Given the description of an element on the screen output the (x, y) to click on. 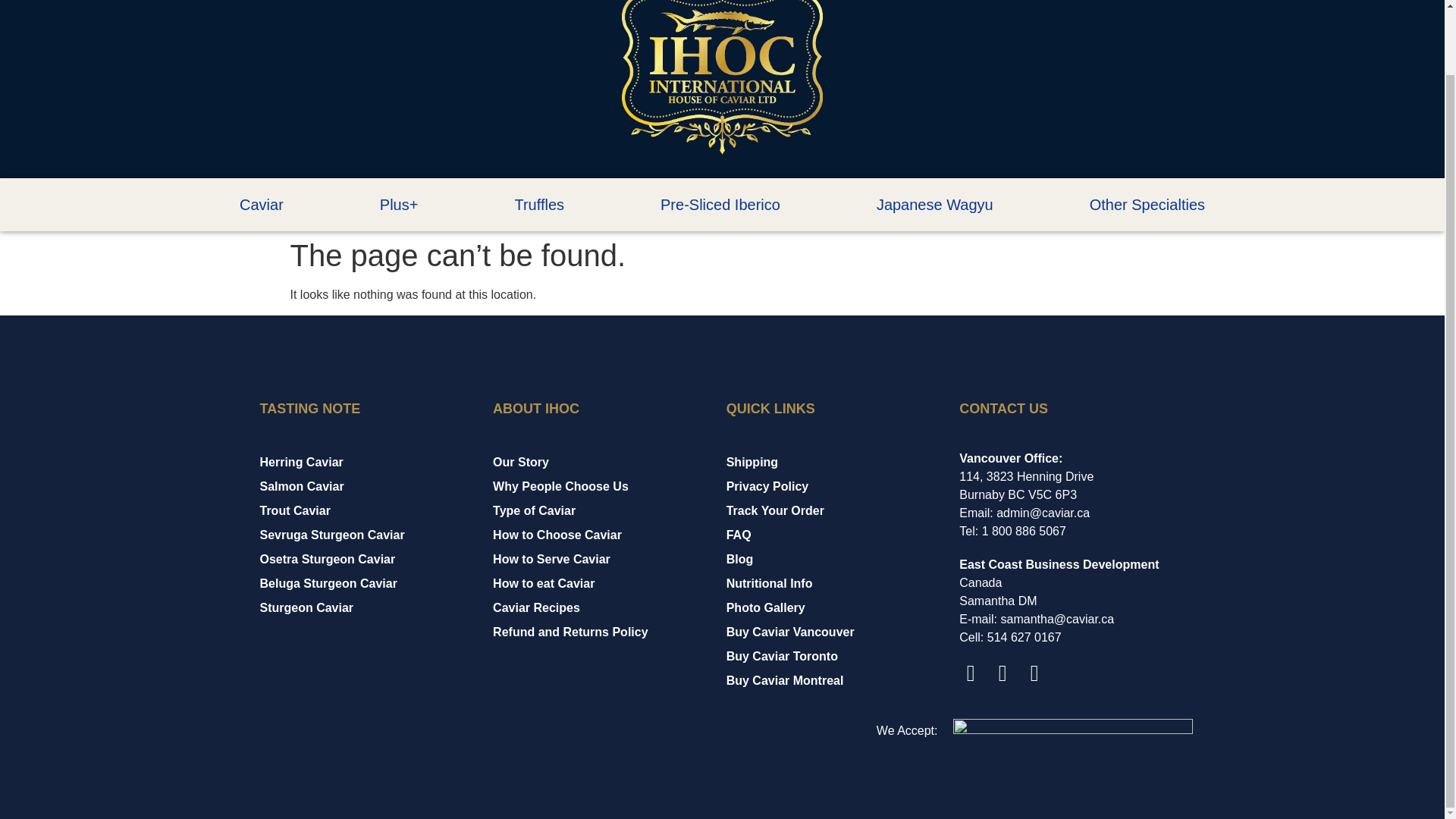
Caviar (260, 204)
Truffles (538, 204)
Pre-Sliced Iberico (720, 204)
Other Specialties (1146, 204)
Japanese Wagyu (934, 204)
